Given the description of an element on the screen output the (x, y) to click on. 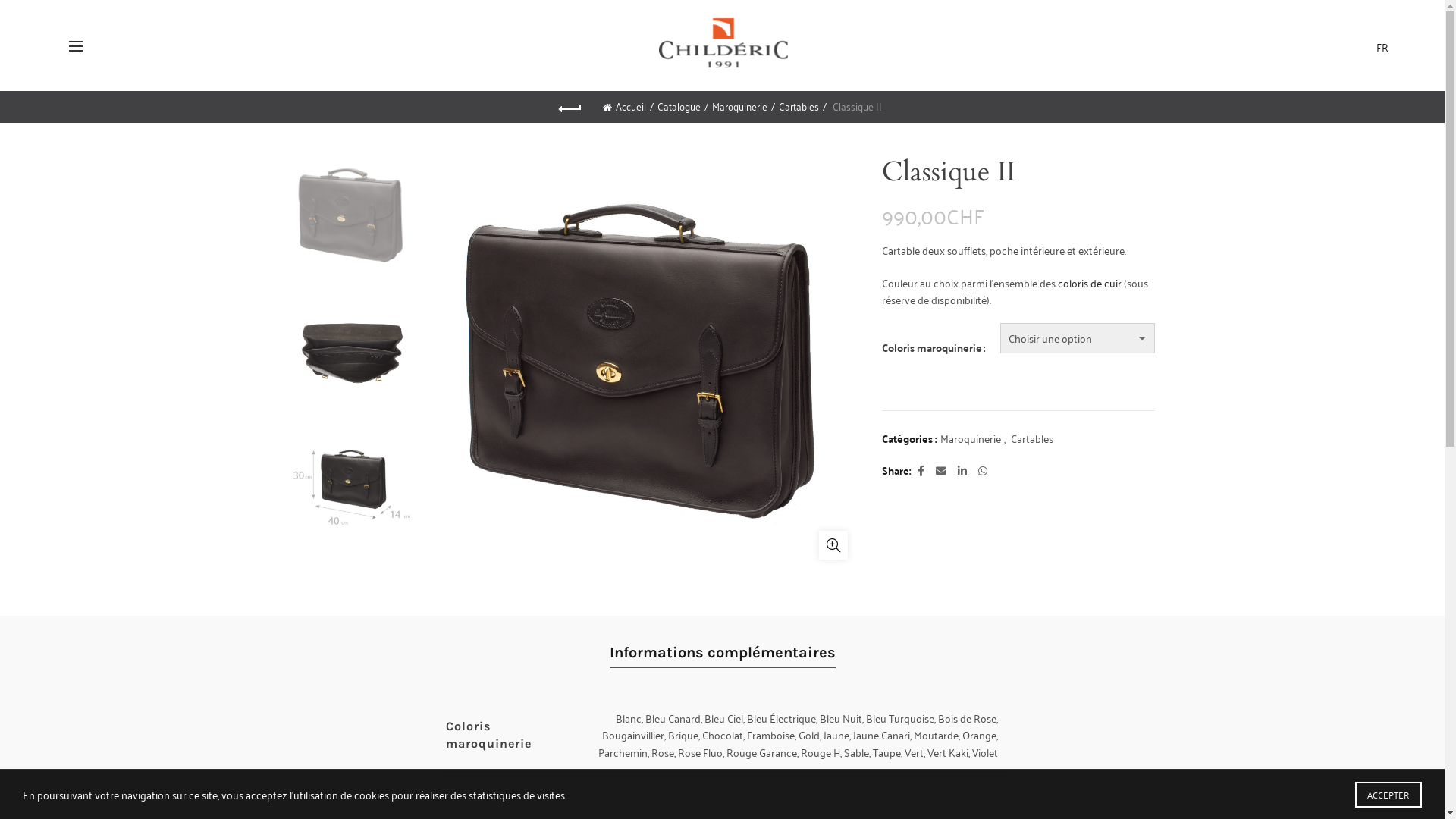
Maroquinerie Element type: text (743, 105)
Classique II Element type: hover (351, 492)
Click to enlarge Element type: text (833, 544)
FR Element type: text (1382, 45)
ACCEPTER Element type: text (1388, 794)
classiqueII4 Element type: hover (351, 220)
Cartables Element type: text (1031, 437)
classiqueII4 Element type: hover (646, 361)
coloris de cuir Element type: text (1088, 282)
Accueil Element type: text (627, 105)
Back Element type: text (570, 106)
Classique II Element type: hover (351, 356)
Maroquinerie Element type: text (970, 437)
Cartables Element type: text (802, 105)
Catalogue Element type: text (682, 105)
